Given the description of an element on the screen output the (x, y) to click on. 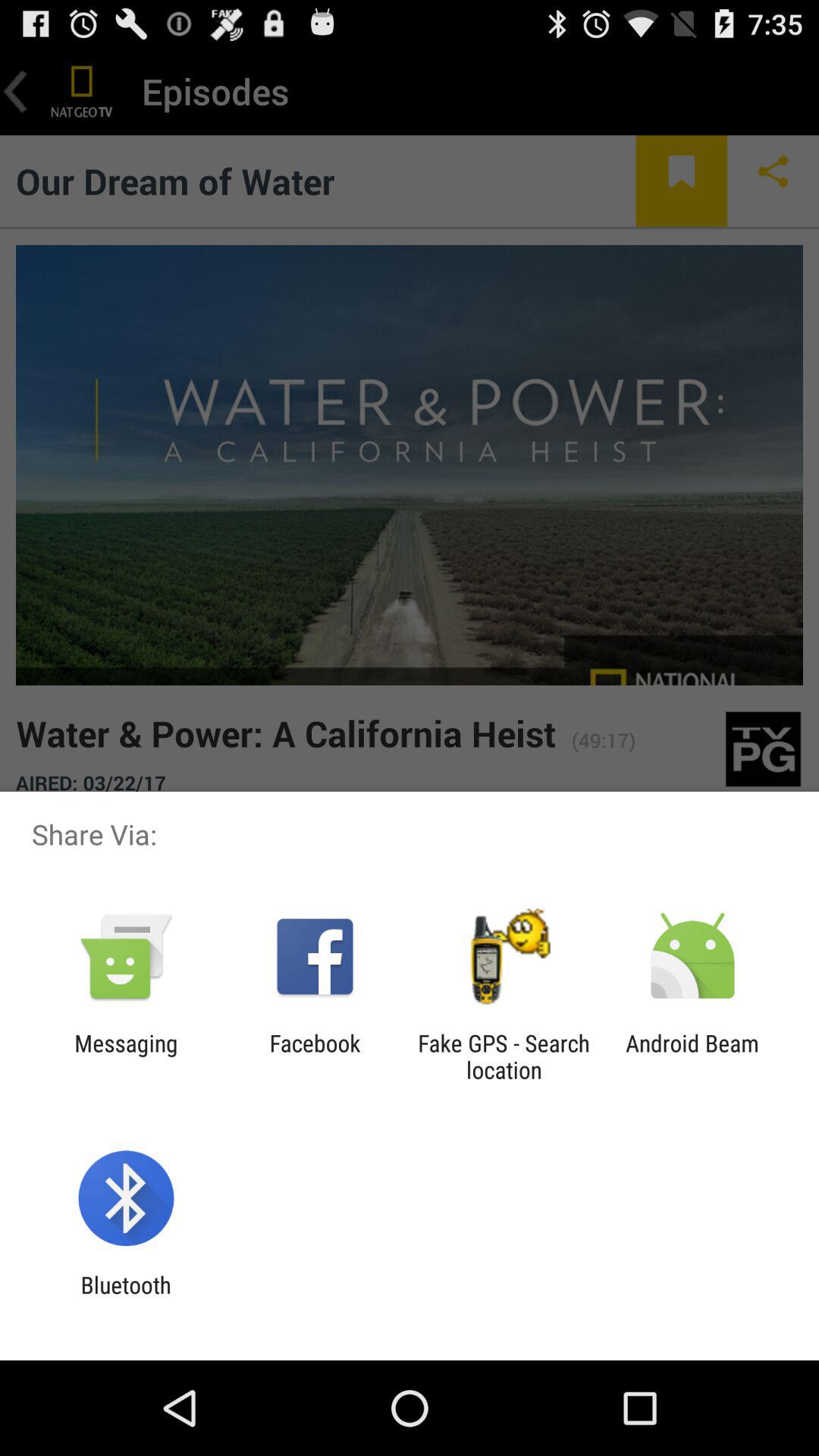
launch the fake gps search item (503, 1056)
